Given the description of an element on the screen output the (x, y) to click on. 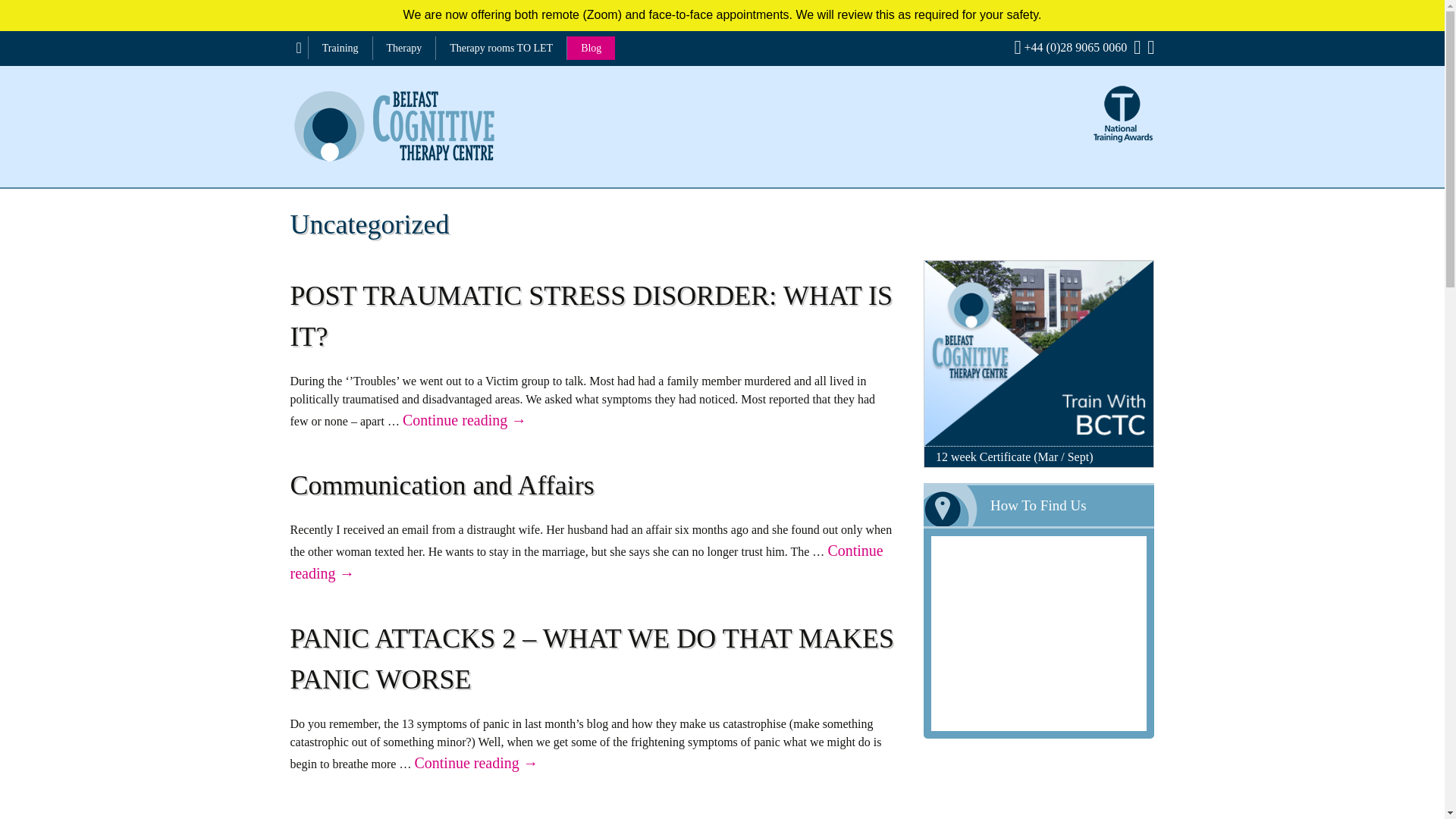
POST TRAUMATIC STRESS DISORDER: WHAT IS IT? (590, 316)
Communication and Affairs (441, 485)
Training (340, 47)
Therapy rooms TO LET (501, 47)
Therapy (403, 47)
Blog (590, 47)
